Given the description of an element on the screen output the (x, y) to click on. 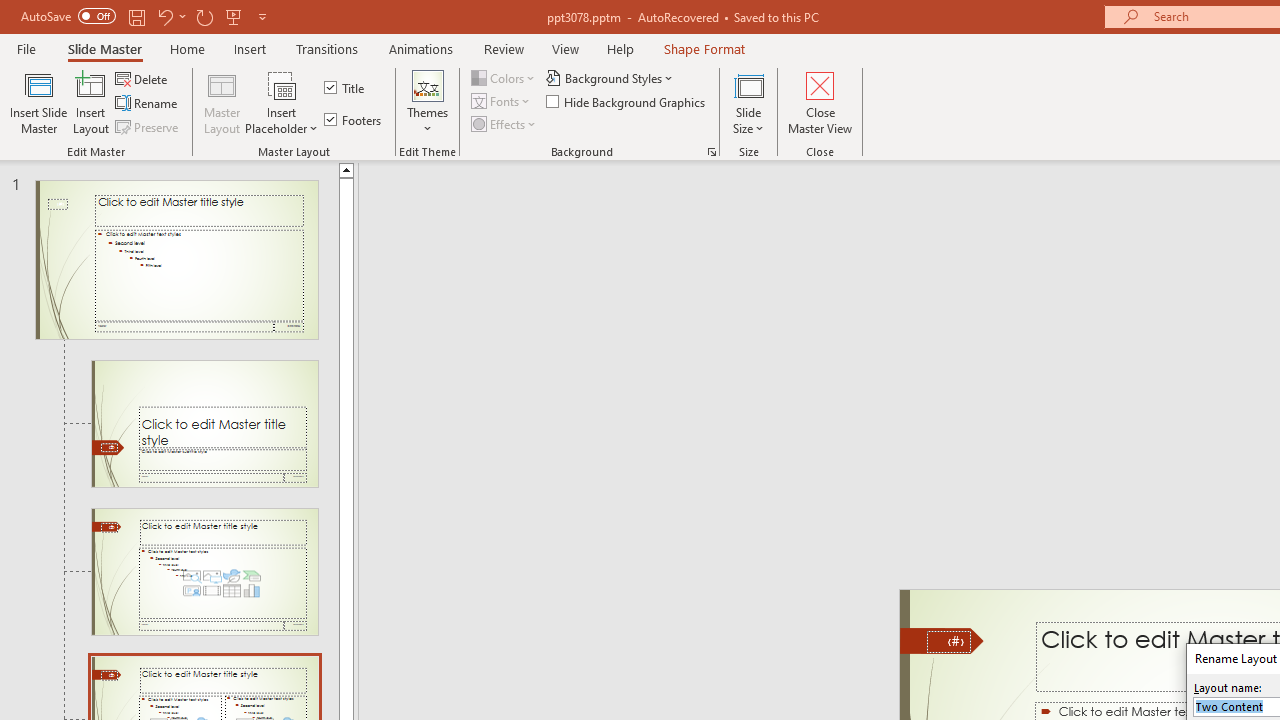
Colors (504, 78)
Effects (505, 124)
Fonts (502, 101)
Rename (148, 103)
Slide Size (749, 102)
Slide Wisp Slide Master: used by slide(s) 1 (176, 259)
Preserve (148, 126)
Master Layout... (221, 102)
Slide Title and Content Layout: used by no slides (204, 572)
